Given the description of an element on the screen output the (x, y) to click on. 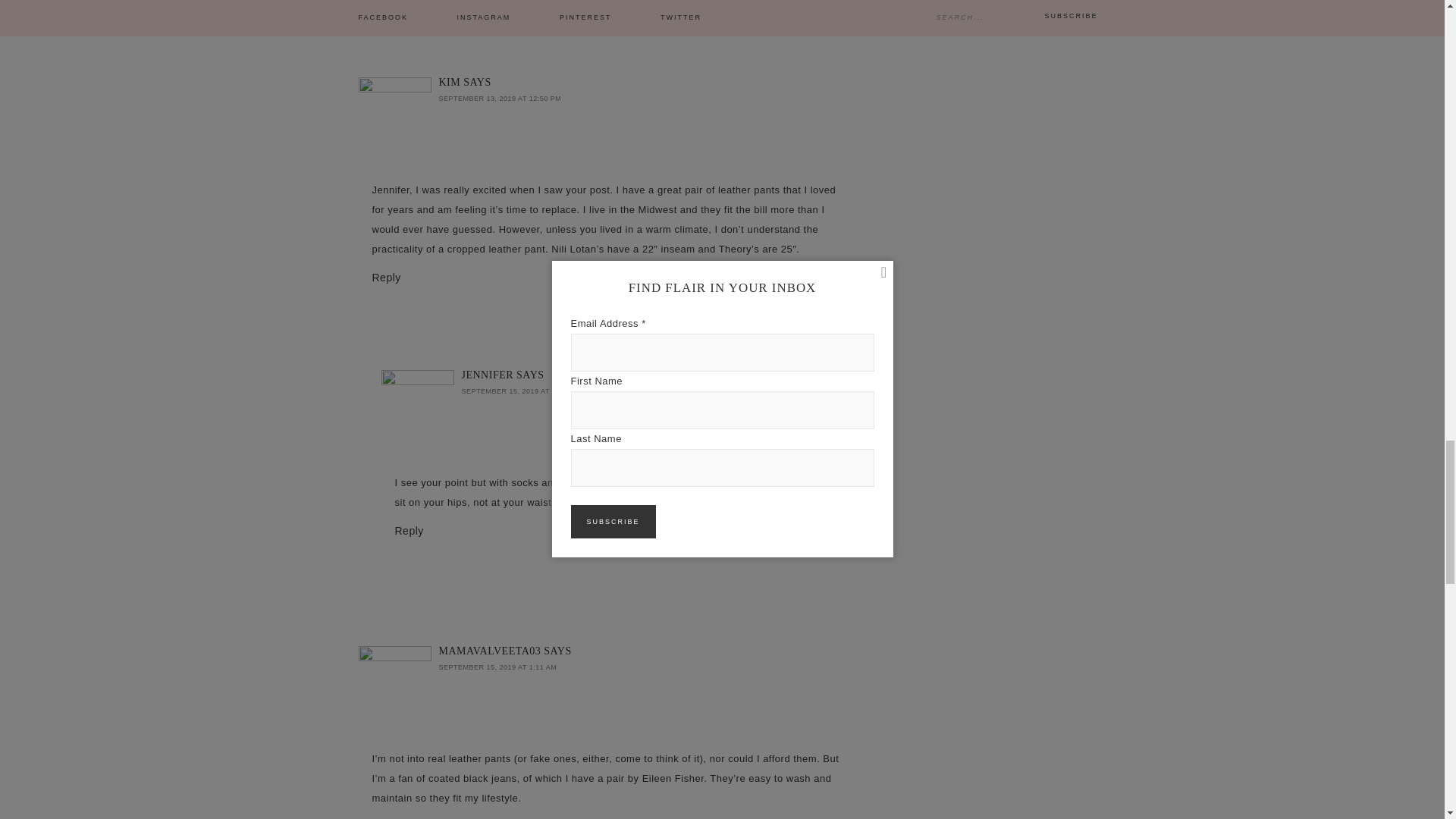
SEPTEMBER 15, 2019 AT 5:14 PM (520, 390)
SEPTEMBER 13, 2019 AT 12:50 PM (499, 98)
Reply (408, 530)
Reply (385, 277)
